Given the description of an element on the screen output the (x, y) to click on. 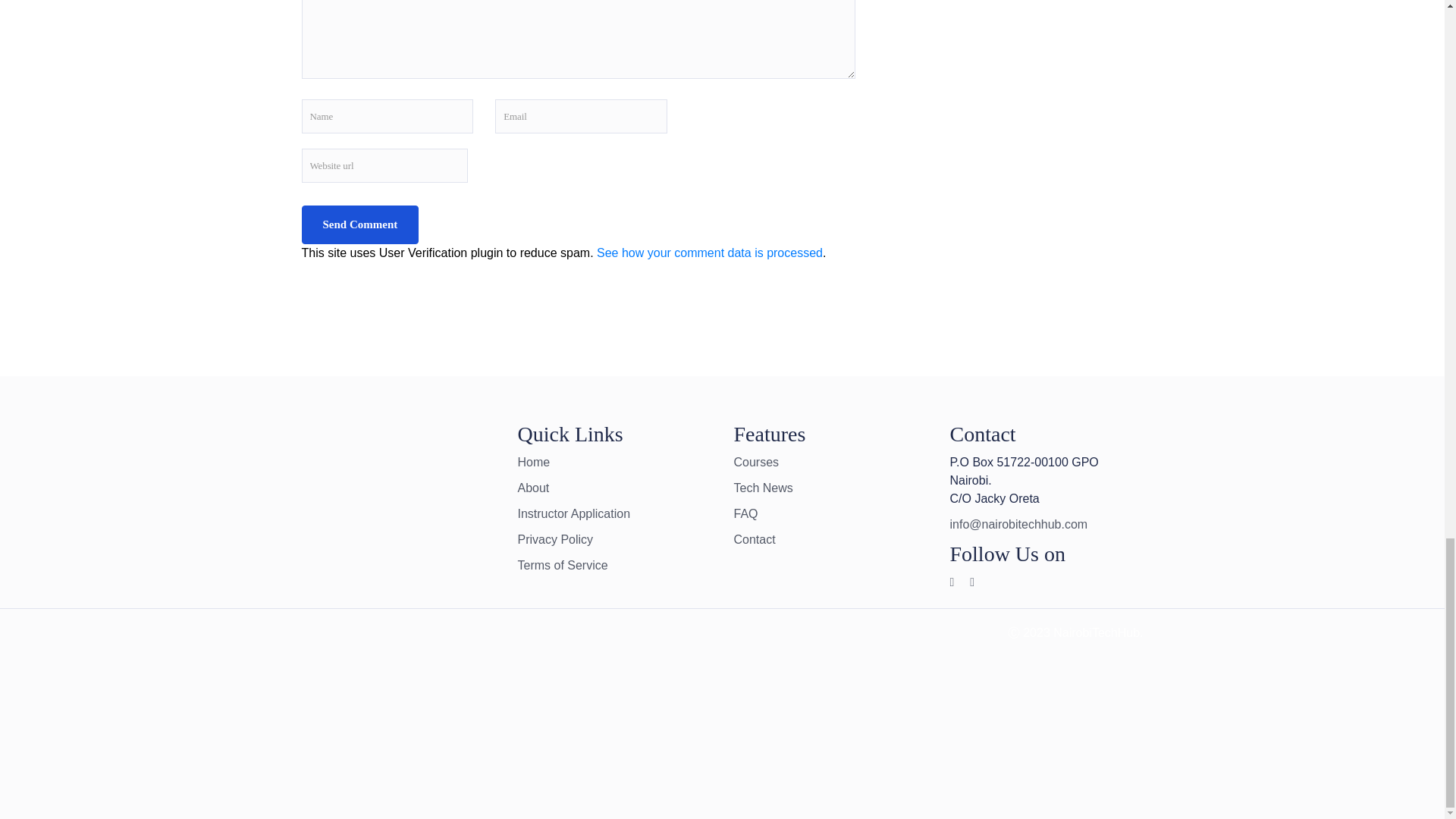
Footer Logo (432, 711)
Send Comment (360, 224)
Terms of Service (561, 564)
Instructor Application (573, 513)
Courses (755, 461)
Privacy Policy (554, 539)
Send Comment (360, 224)
About (532, 487)
Home (533, 461)
See how your comment data is processed (709, 252)
